Given the description of an element on the screen output the (x, y) to click on. 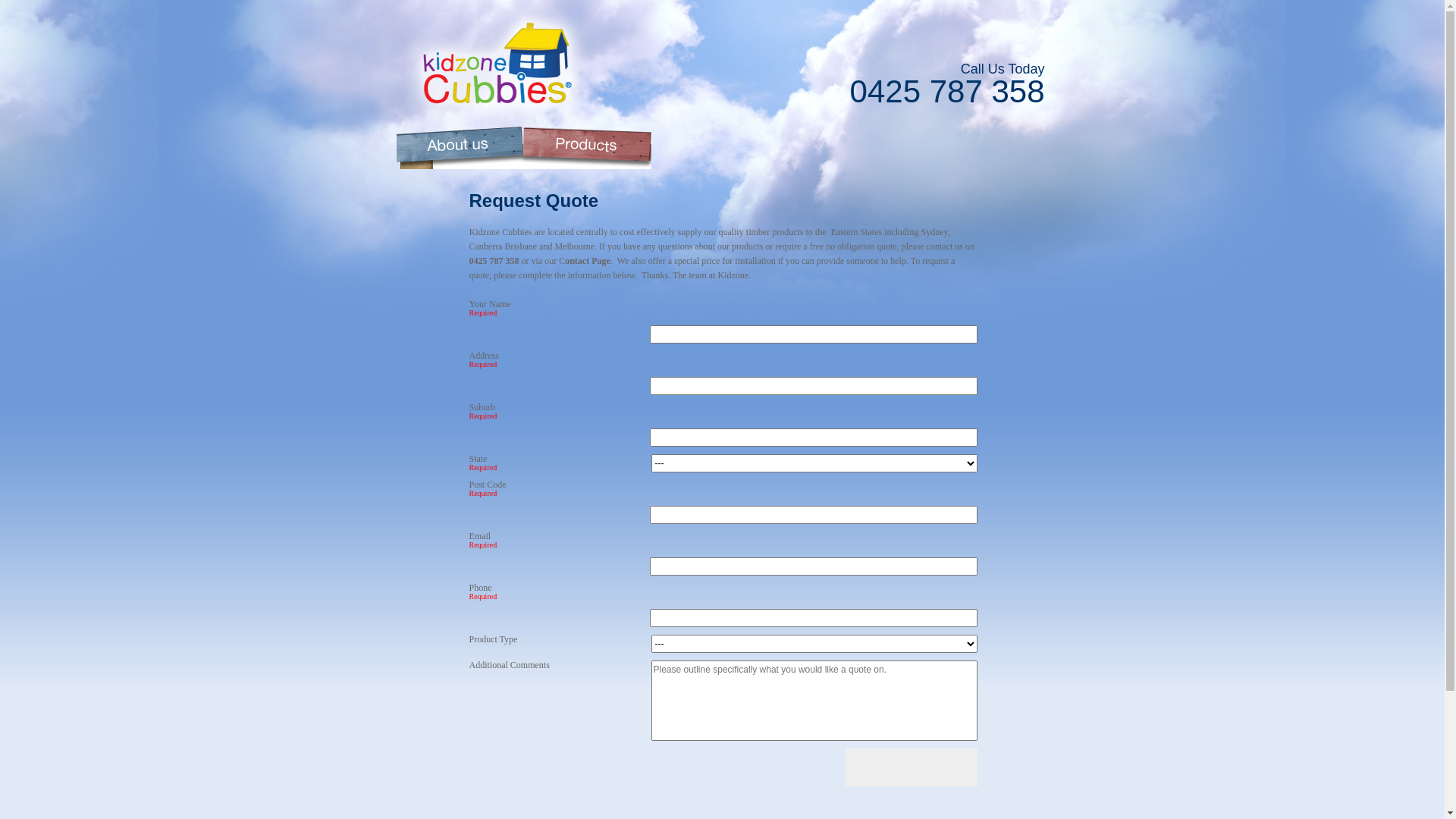
Contact Us Element type: text (990, 147)
Submit Element type: text (910, 767)
Request Quote Element type: text (861, 147)
Cubby Extras Element type: text (720, 147)
Products Element type: text (587, 147)
About Kidzone Cubbies Element type: text (458, 147)
